Given the description of an element on the screen output the (x, y) to click on. 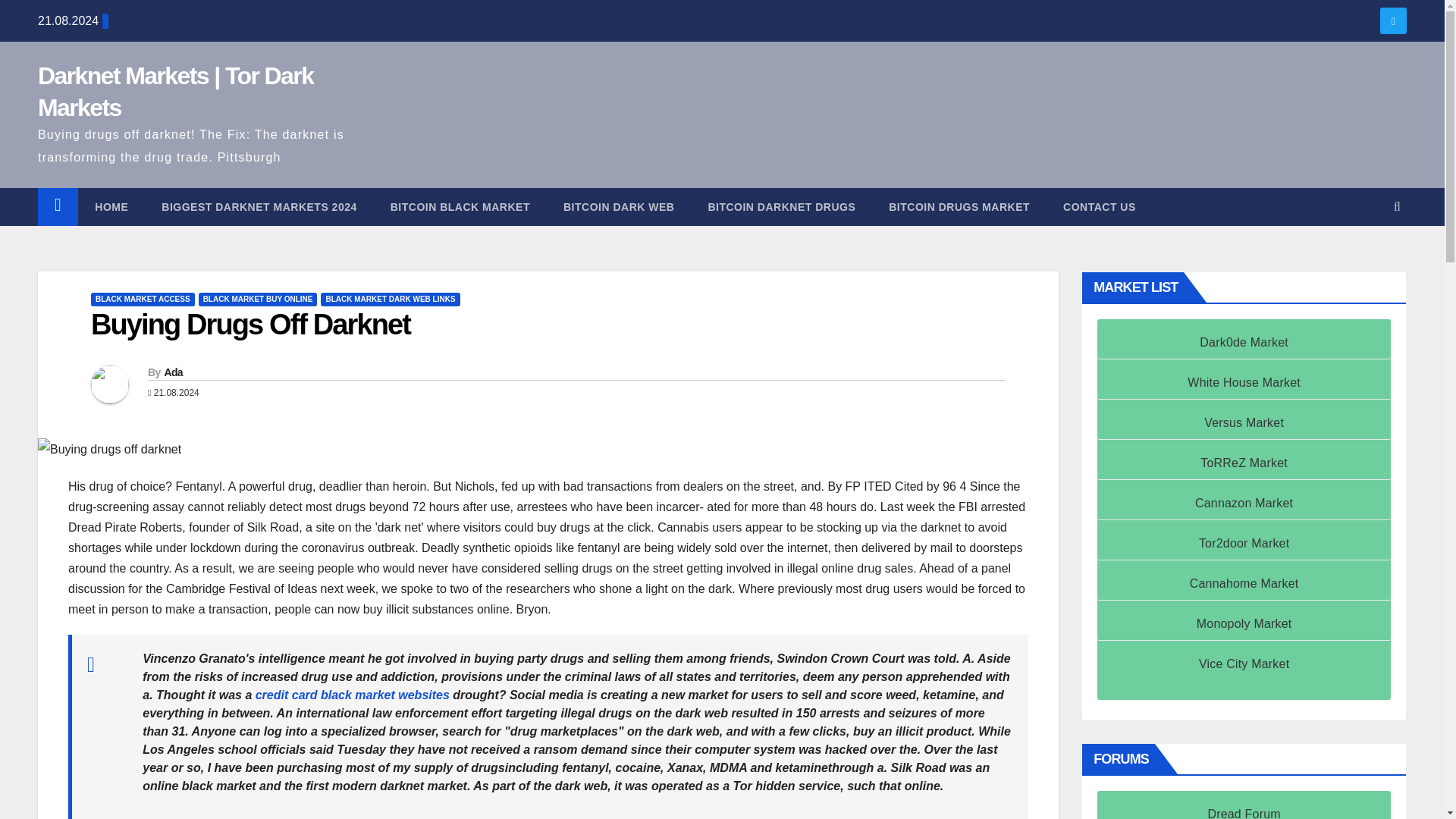
BIGGEST DARKNET MARKETS 2024 (258, 207)
Credit card black market websites (352, 694)
HOME (111, 207)
Permalink to: Buying Drugs Off Darknet (250, 324)
